Given the description of an element on the screen output the (x, y) to click on. 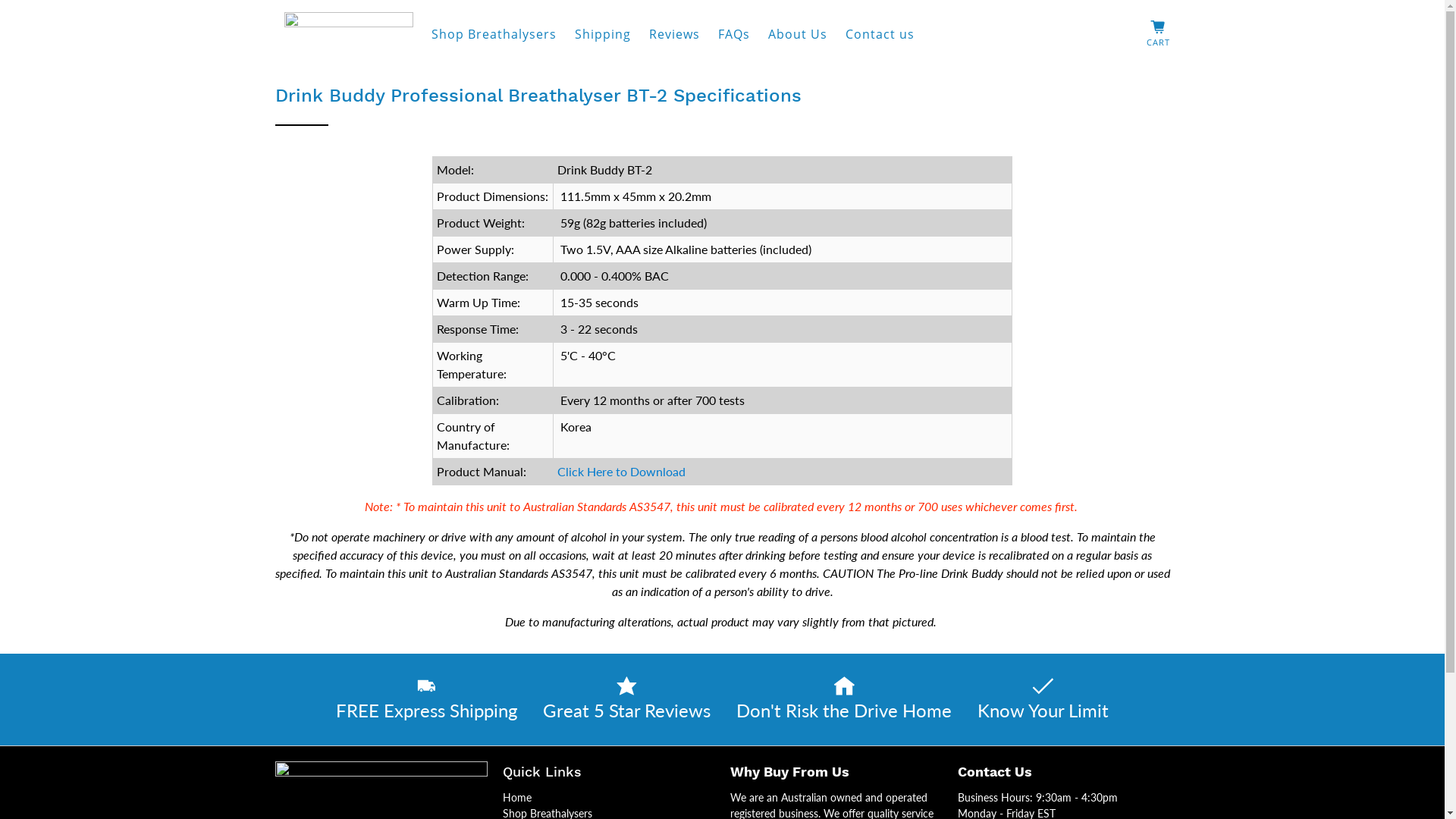
Reviews Element type: text (674, 33)
Shipping Element type: text (602, 33)
CART Element type: text (1158, 34)
About Us Element type: text (796, 33)
Click Here to Download Element type: text (621, 471)
Drink Buddy Breathalyser Element type: hover (347, 34)
Contact us Element type: text (878, 33)
FAQs Element type: text (733, 33)
Shop Breathalysers Element type: text (492, 33)
Home Element type: text (516, 796)
